Given the description of an element on the screen output the (x, y) to click on. 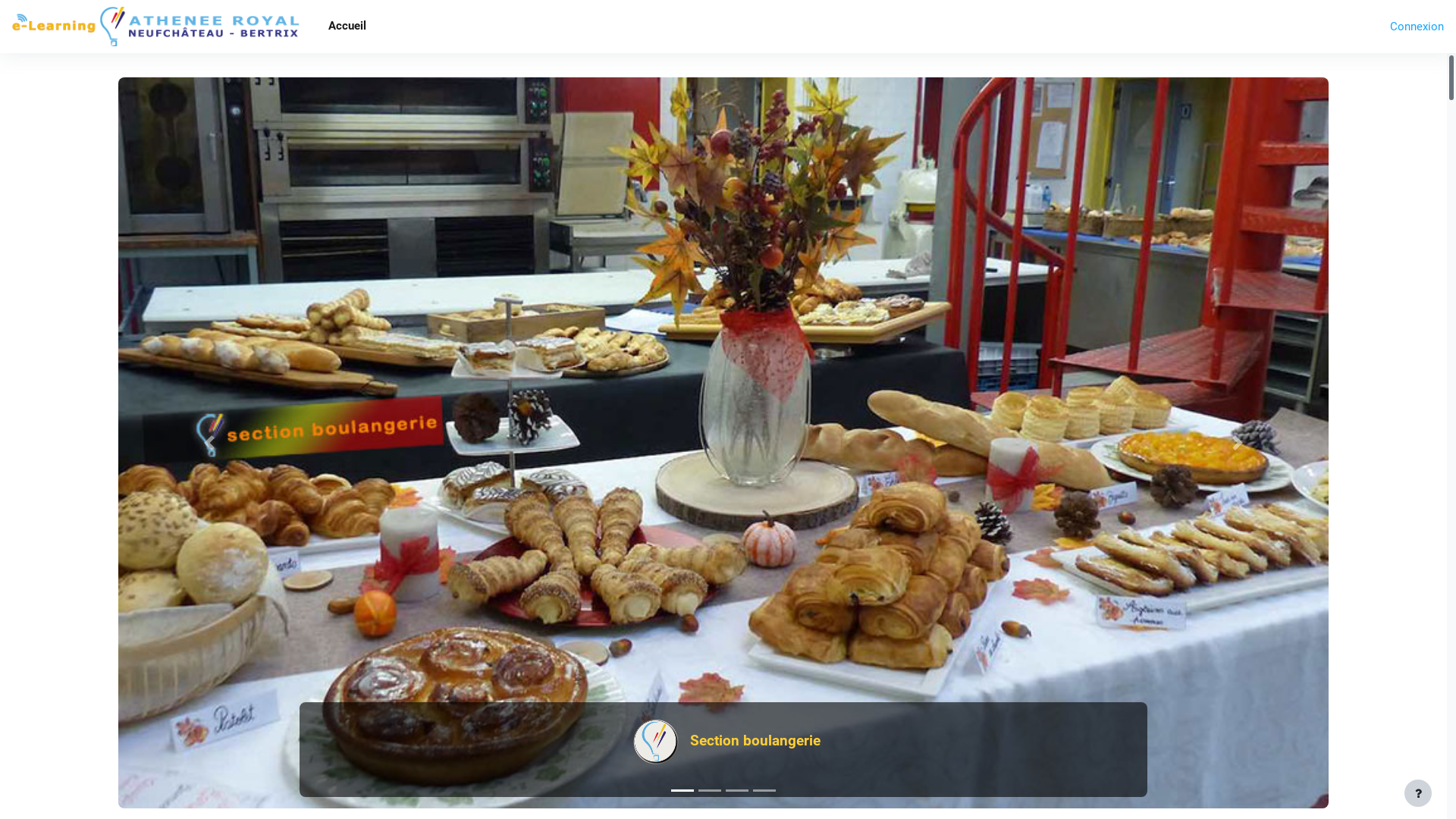
Suivant Element type: text (1237, 442)
Accueil Element type: text (347, 26)
Connexion Element type: text (1416, 26)
